Given the description of an element on the screen output the (x, y) to click on. 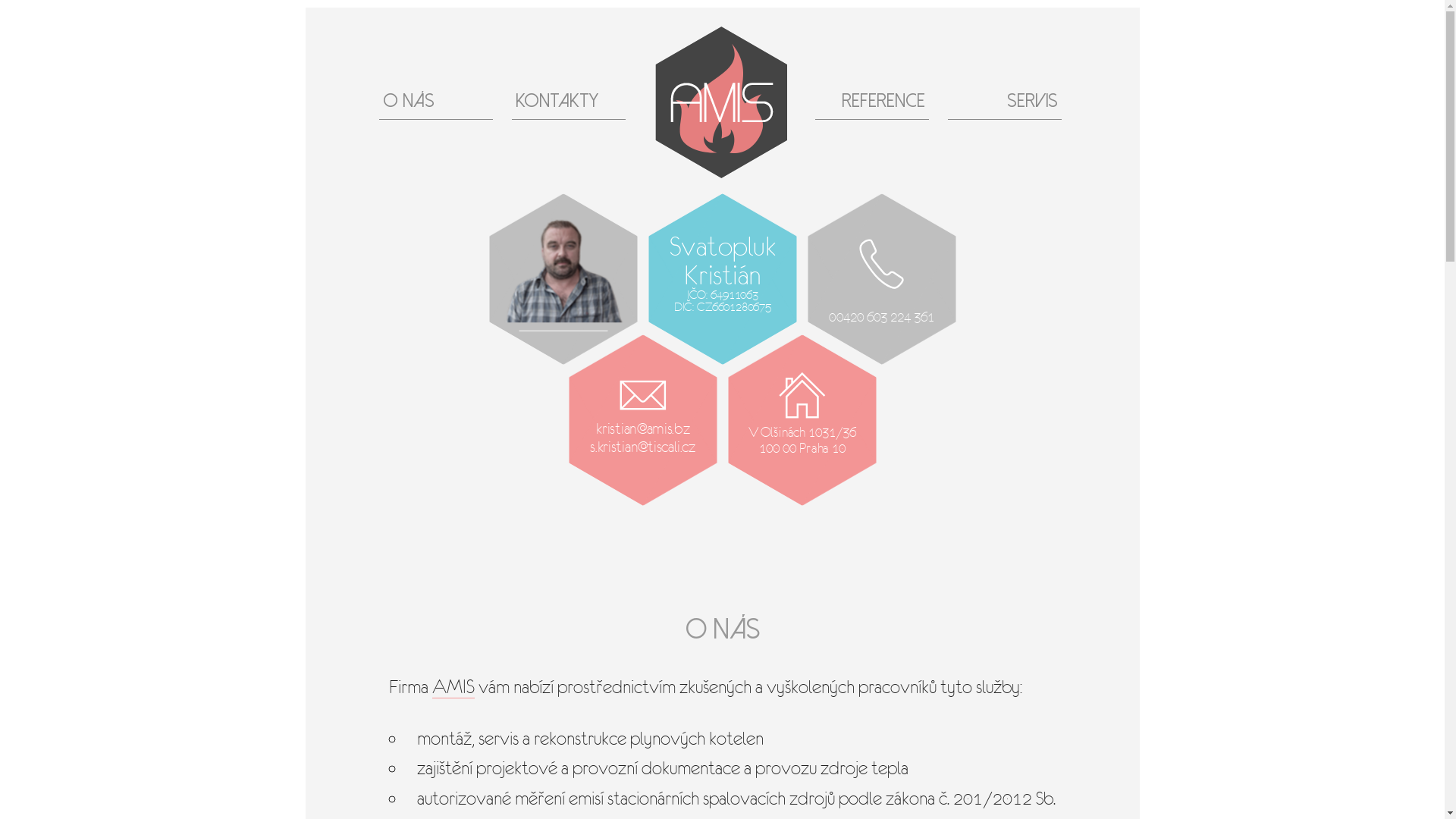
REFERENCE Element type: text (871, 101)
kristian@amis.bz Element type: text (632, 426)
SERVIS Element type: text (1004, 101)
s.kristian@tiscali.cz Element type: text (630, 443)
KONTAKTY Element type: text (568, 101)
